Given the description of an element on the screen output the (x, y) to click on. 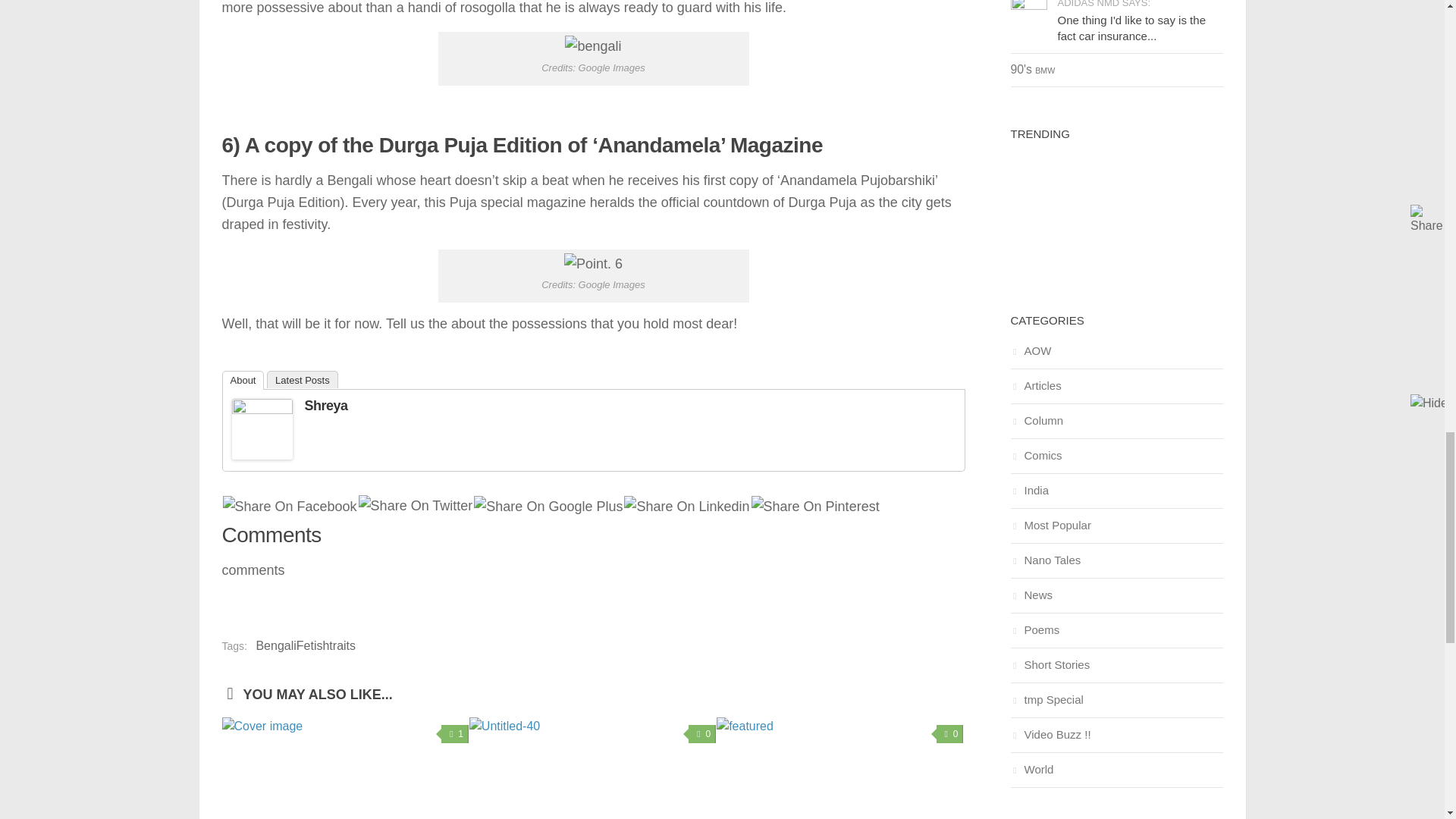
0 (702, 733)
Shreya (325, 405)
About (242, 380)
0 (949, 733)
TMP Last Words! (592, 768)
1 (454, 733)
Shreya (261, 409)
Most Popular Garba Venues in Ahmedabad (839, 768)
Movie Sequels That Outshone Their Prequels (344, 768)
Latest Posts (301, 379)
